Given the description of an element on the screen output the (x, y) to click on. 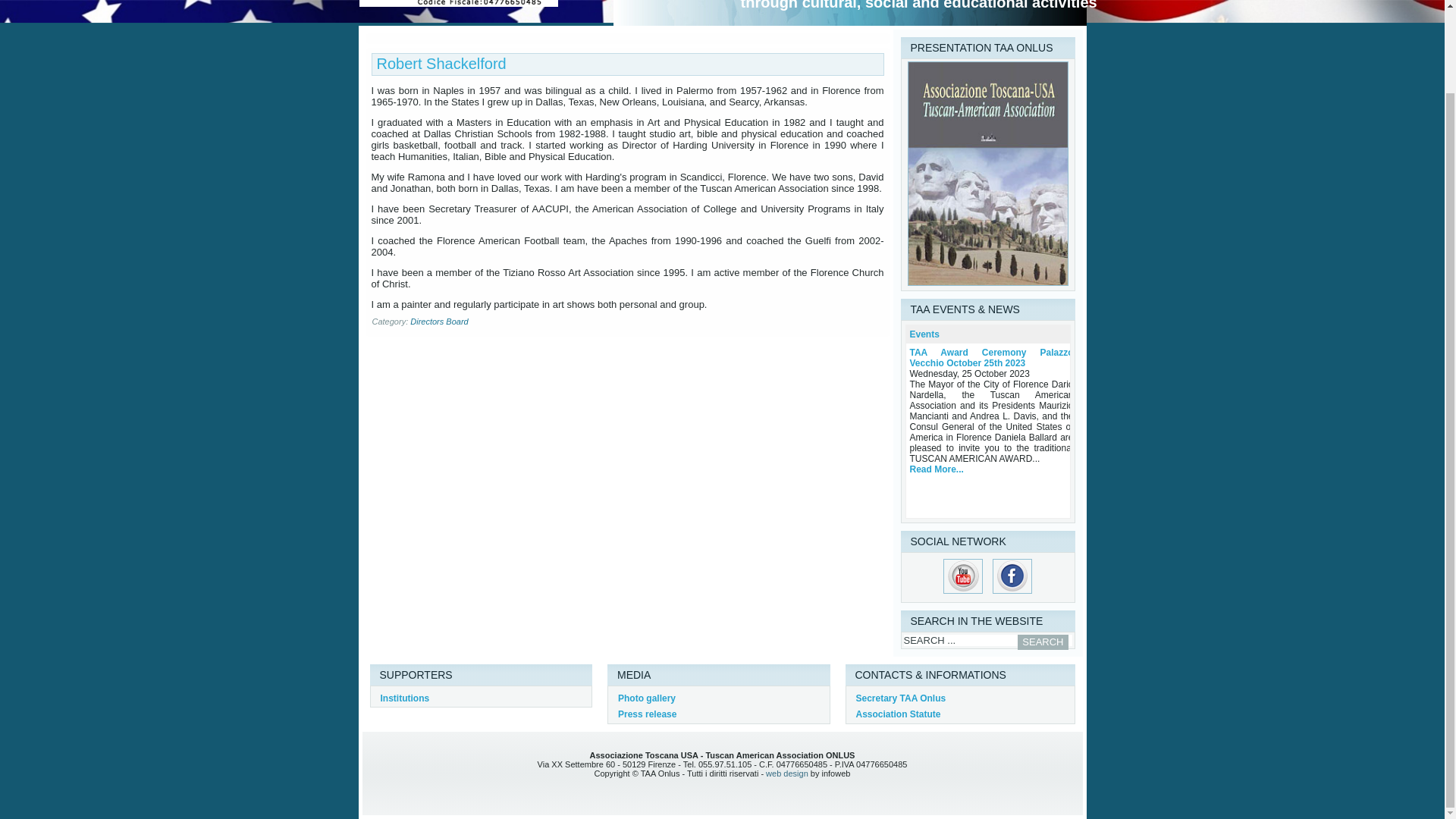
Press release (647, 714)
Institutions (404, 697)
Search (1042, 642)
RSS (379, 770)
web design (786, 773)
TAA Award Ceremony Palazzo Vecchio October 25th 2023 (992, 357)
Secretary TAA Onlus (900, 697)
Association Statute (898, 714)
Photo gallery (646, 697)
Search (1042, 642)
